Given the description of an element on the screen output the (x, y) to click on. 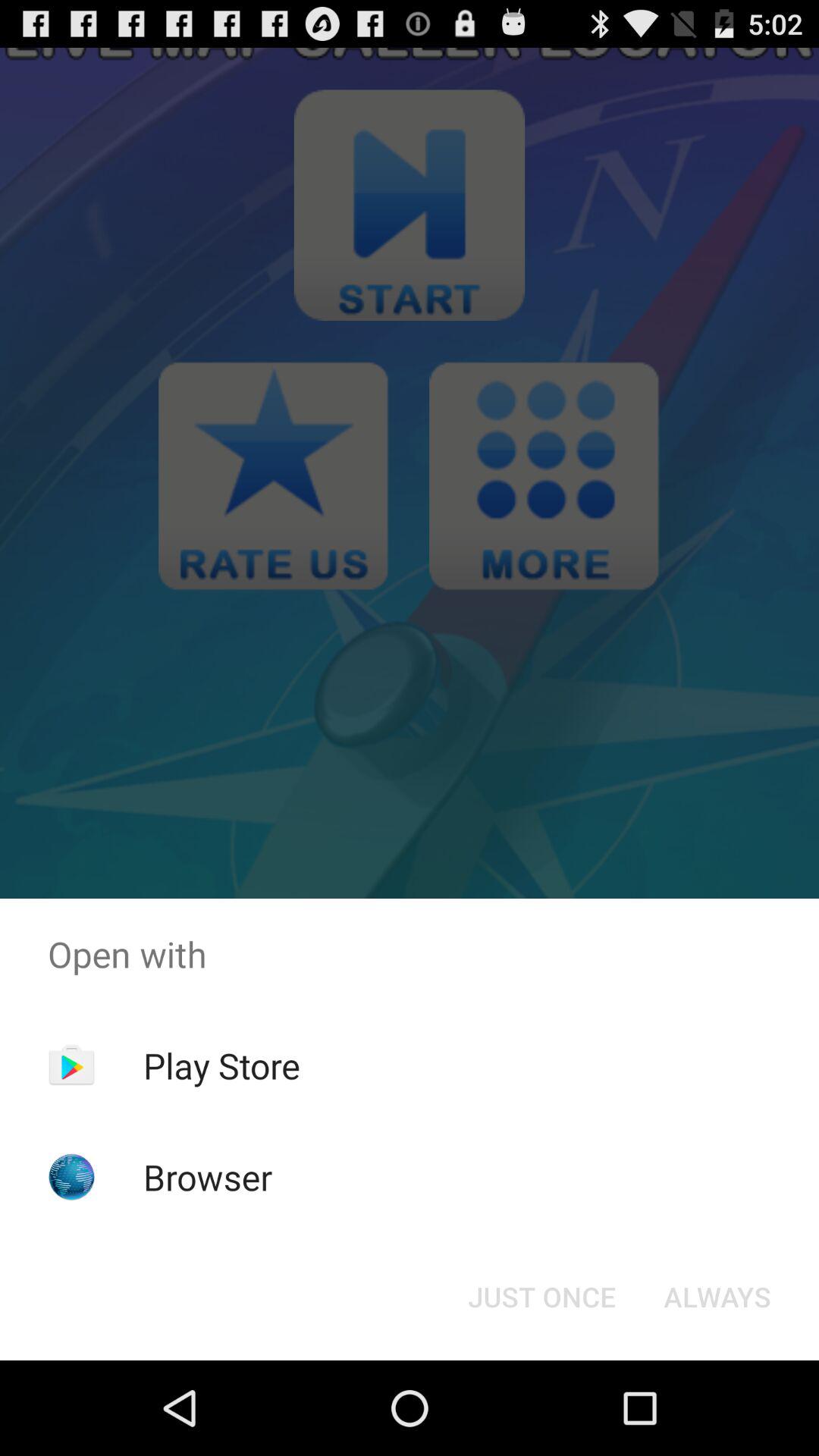
press item to the left of the always button (541, 1296)
